Given the description of an element on the screen output the (x, y) to click on. 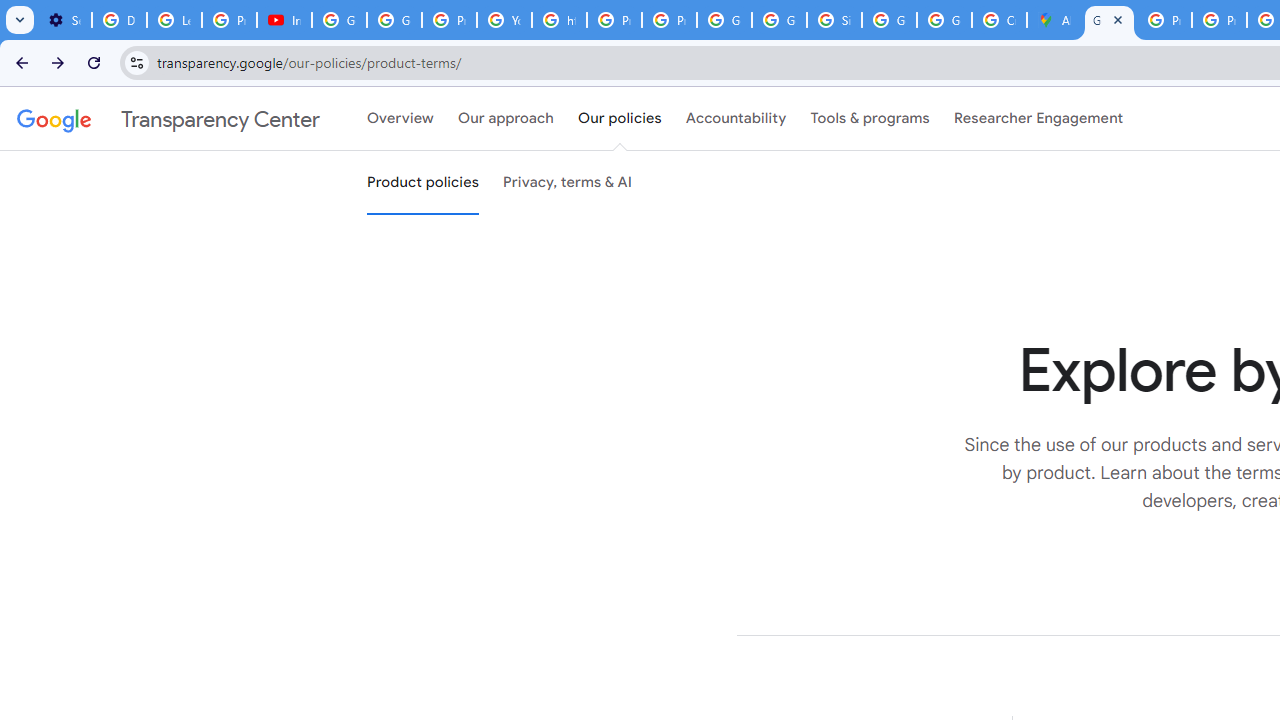
Our policies (619, 119)
Google Account Help (394, 20)
Our approach (506, 119)
Privacy Help Center - Policies Help (614, 20)
Create your Google Account (998, 20)
Privacy, terms & AI (568, 183)
Product policies (422, 183)
Accountability (735, 119)
